Given the description of an element on the screen output the (x, y) to click on. 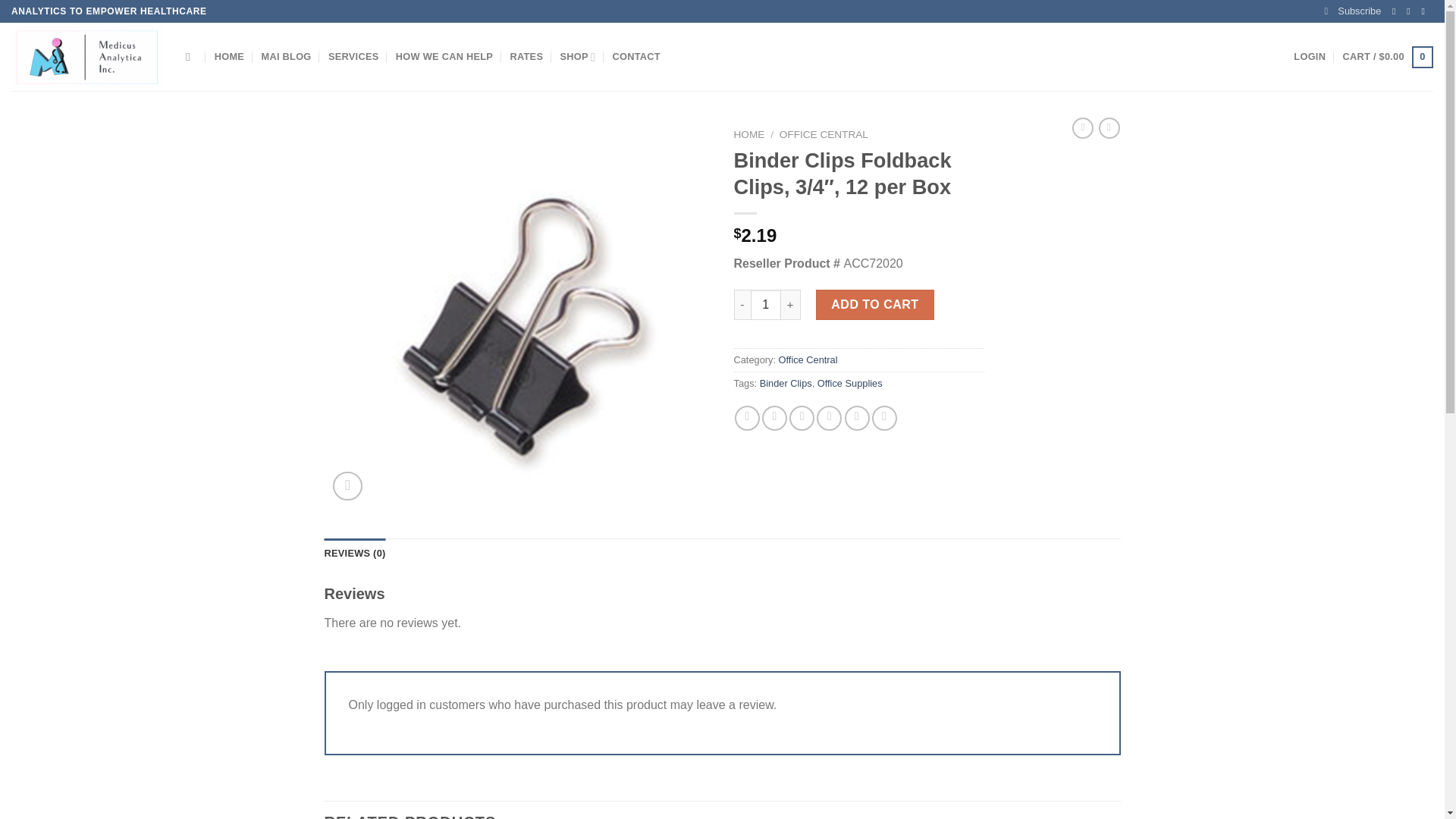
MAI BLOG (286, 56)
Share on Twitter (774, 417)
1 (765, 304)
SHOP (577, 56)
Zoom (347, 486)
CONTACT (636, 56)
Subscribe (1352, 11)
Cart (1387, 57)
Medicus Analytica Inc. - Analytics to Empower Healthcare (87, 56)
Share on Facebook (747, 417)
RATES (526, 56)
HOW WE CAN HELP (444, 56)
Binder Clips (786, 383)
ADD TO CART (874, 304)
LOGIN (1309, 56)
